Given the description of an element on the screen output the (x, y) to click on. 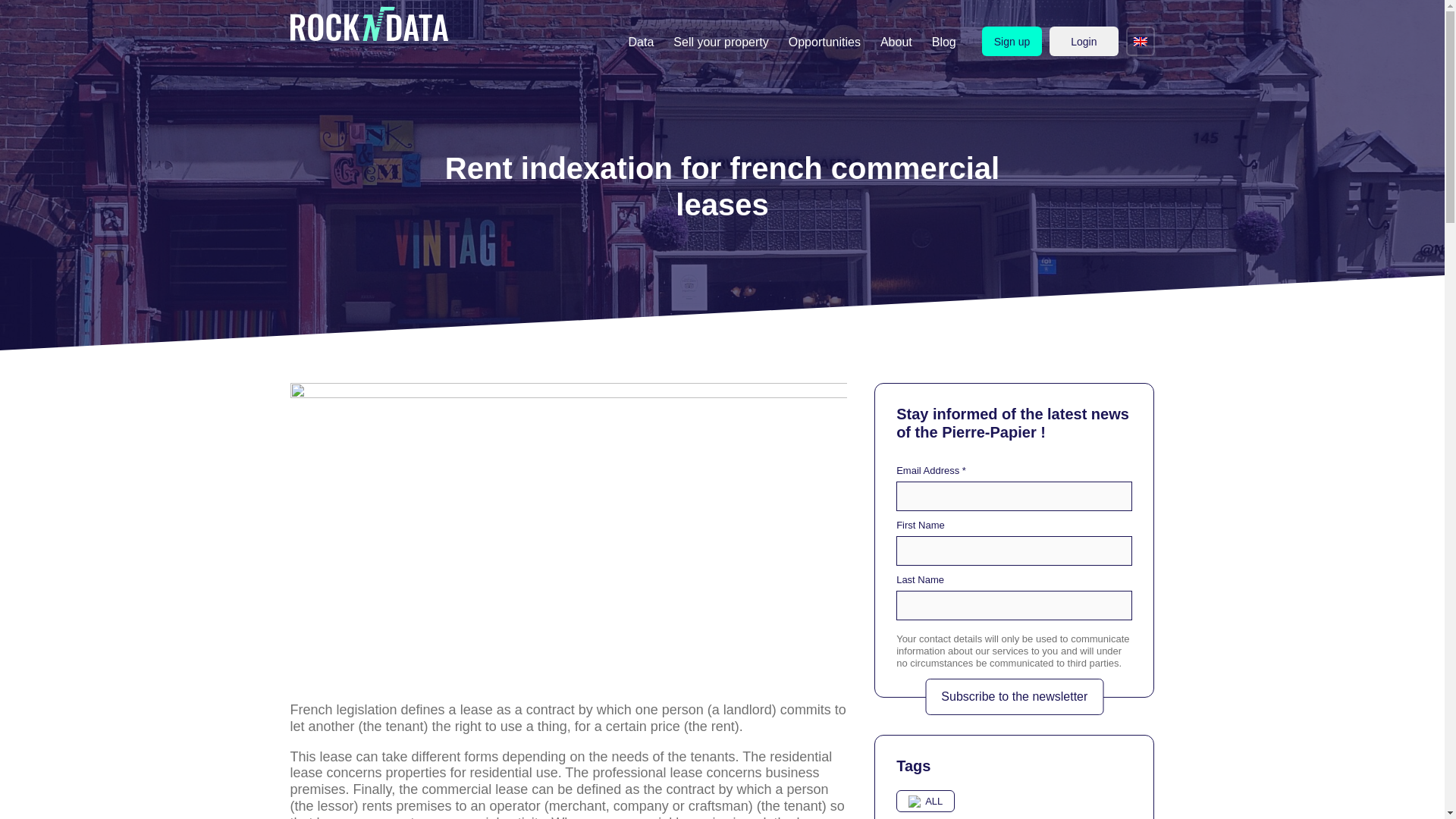
About (896, 42)
Subscribe to the newsletter (1013, 696)
ALL (925, 801)
Data (642, 42)
Sign up (1011, 41)
All (925, 801)
Login (1083, 41)
Subscribe to the newsletter (1013, 696)
Opportunities (824, 42)
Blog (944, 42)
